Given the description of an element on the screen output the (x, y) to click on. 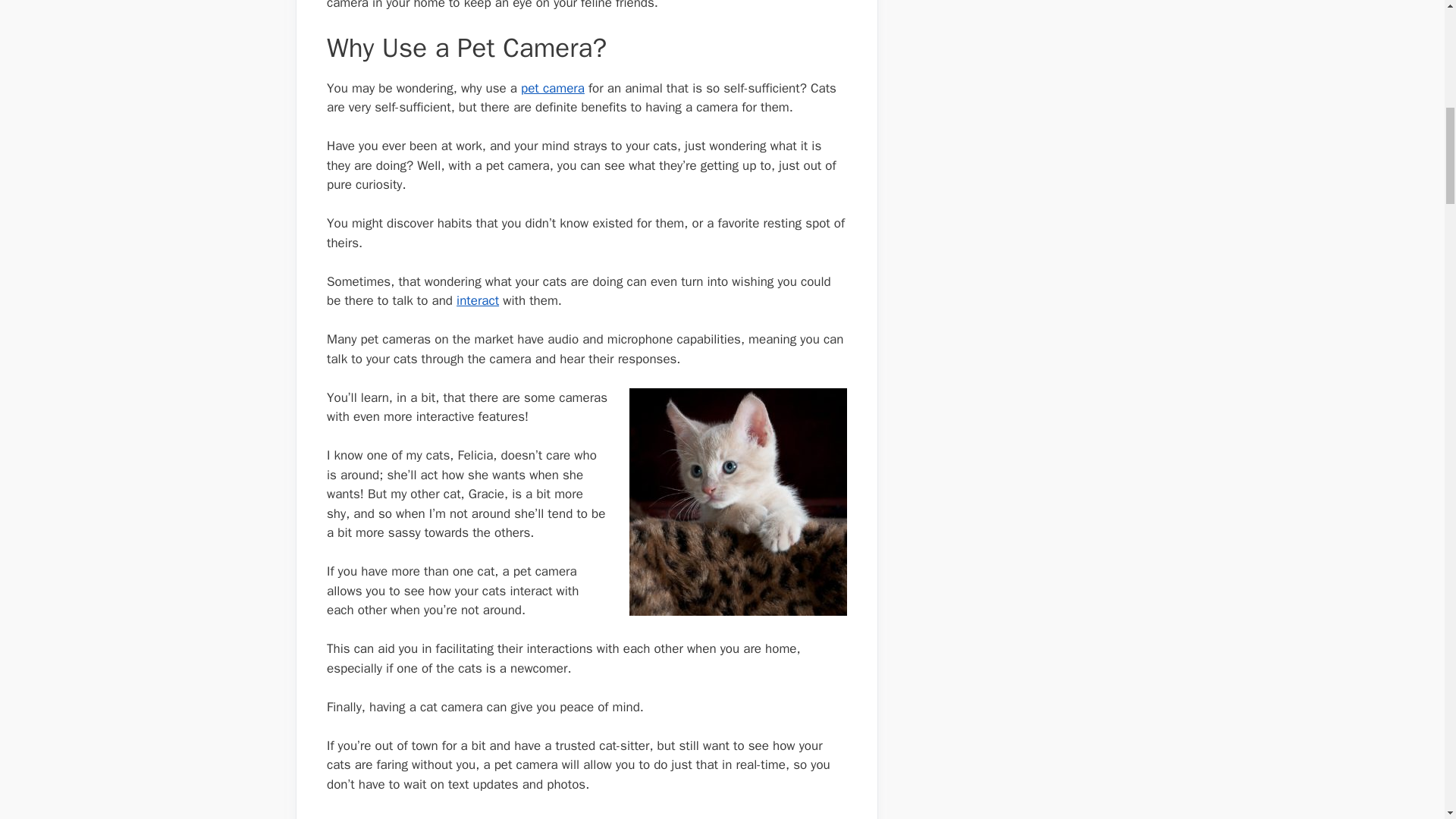
interact (478, 300)
pet camera (553, 88)
Scroll back to top (1406, 720)
